Given the description of an element on the screen output the (x, y) to click on. 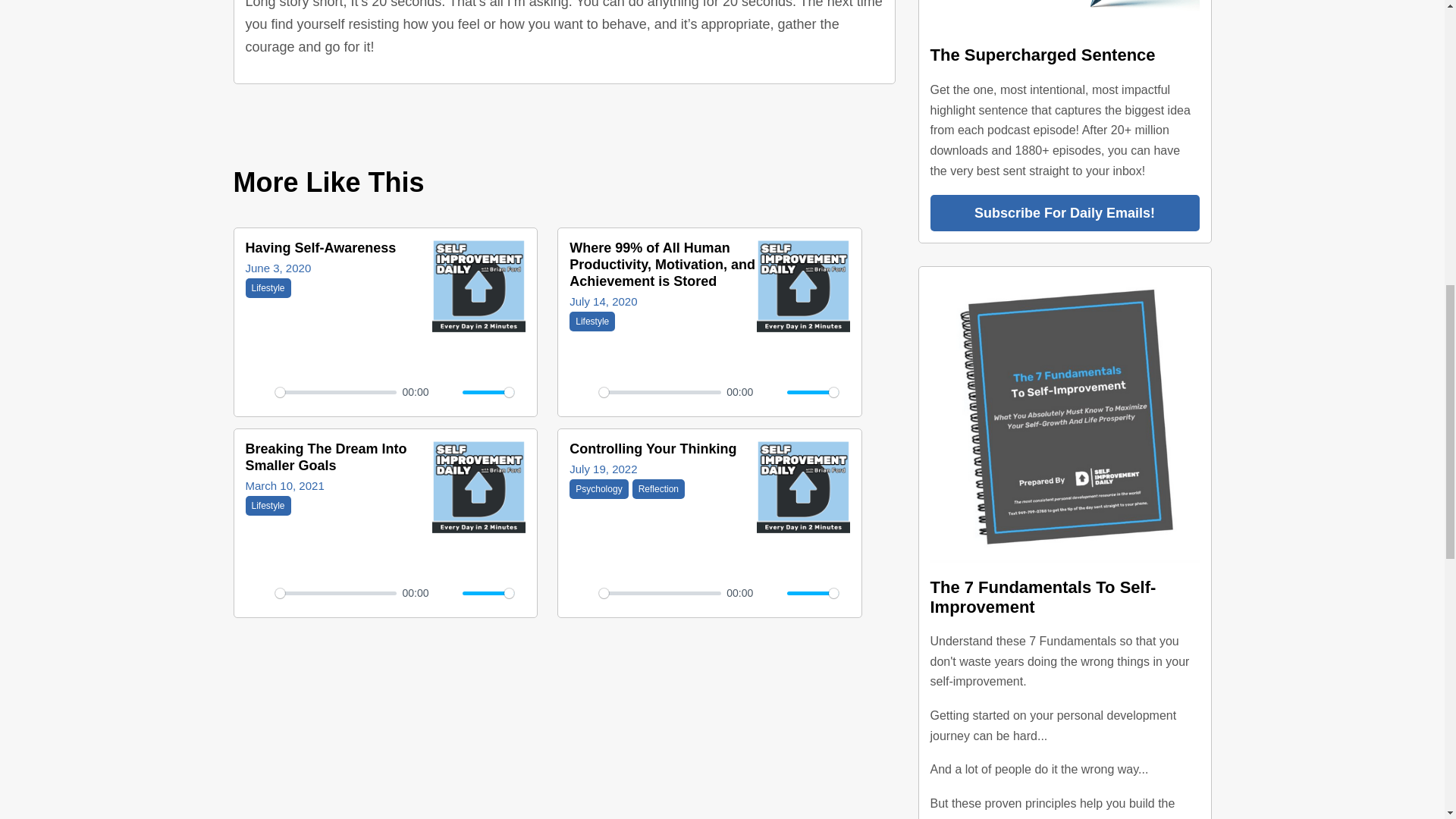
0 (659, 391)
Lifestyle (591, 321)
Lifestyle (268, 288)
1 (488, 391)
0 (339, 466)
Mute (335, 391)
1 (445, 392)
Mute (488, 593)
0 (770, 392)
1 (659, 593)
1 (812, 593)
Play (812, 391)
0 (321, 257)
